Given the description of an element on the screen output the (x, y) to click on. 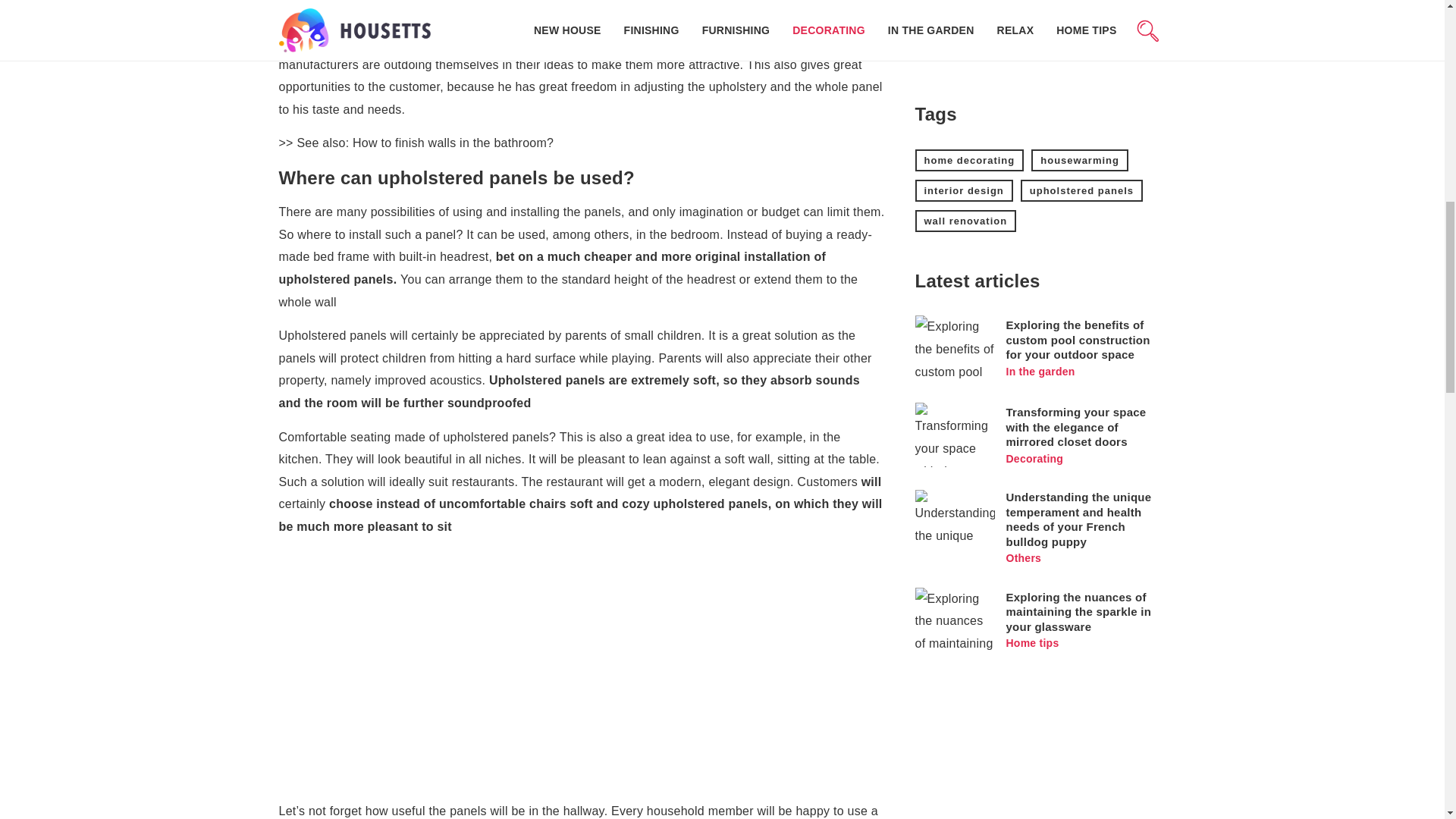
Finding the Right King Bedroom for Your Needs (1035, 3)
home decorating (968, 160)
interior design (962, 190)
housewarming (1079, 160)
upholstered panels (1081, 190)
wall renovation (965, 220)
